Given the description of an element on the screen output the (x, y) to click on. 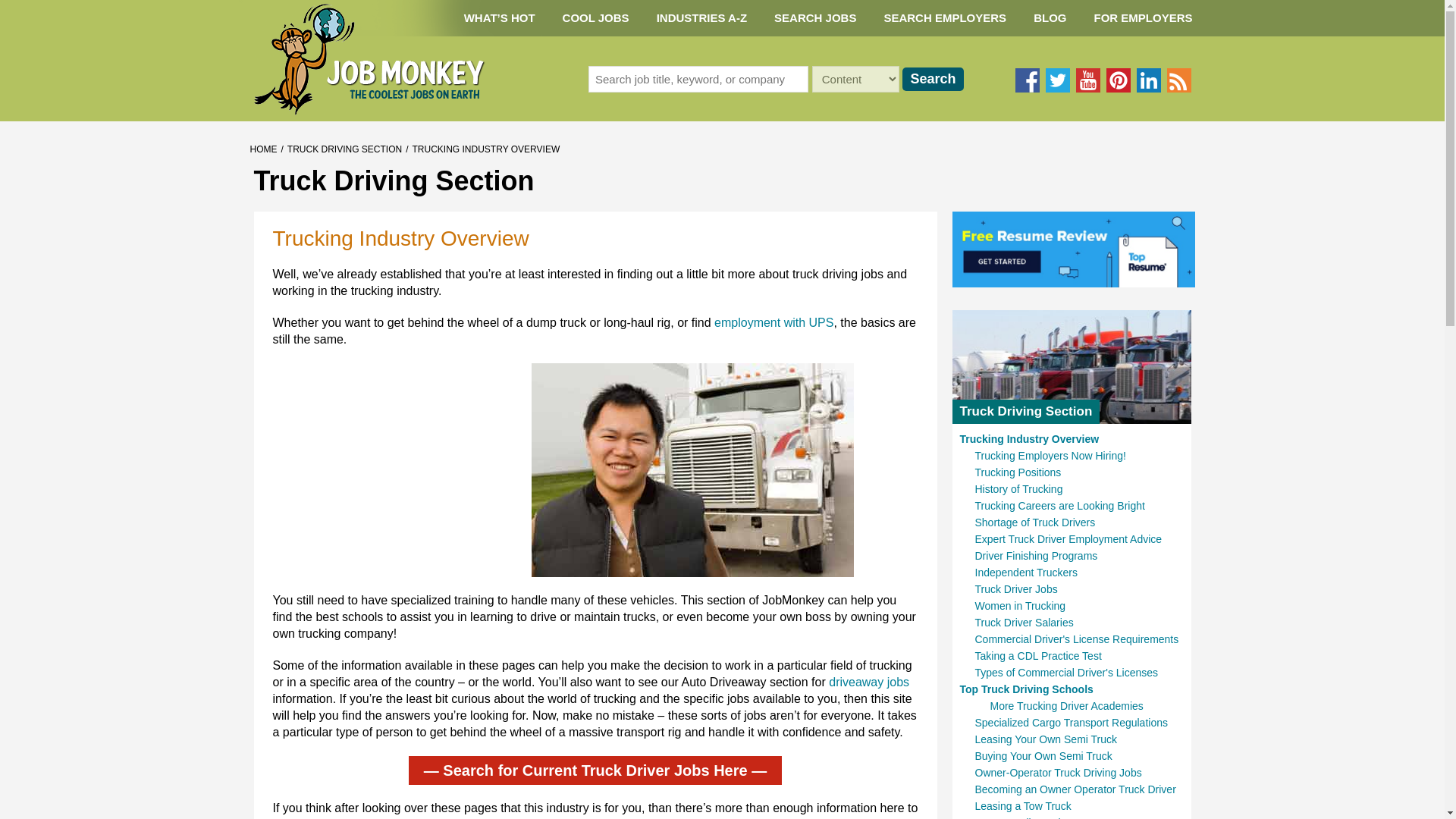
COOL JOBS (595, 18)
Follow us on YouTube (1087, 79)
Follow us on Facebook (1026, 79)
Subscribe to our blog (1178, 79)
Follow us on Facebook (1026, 79)
SEARCH JOBS (814, 18)
Follow us on Pinterest (1117, 79)
Follow us on Pinterest (1117, 79)
FOR EMPLOYERS (1142, 18)
Follow us on YouTube (1087, 79)
